Given the description of an element on the screen output the (x, y) to click on. 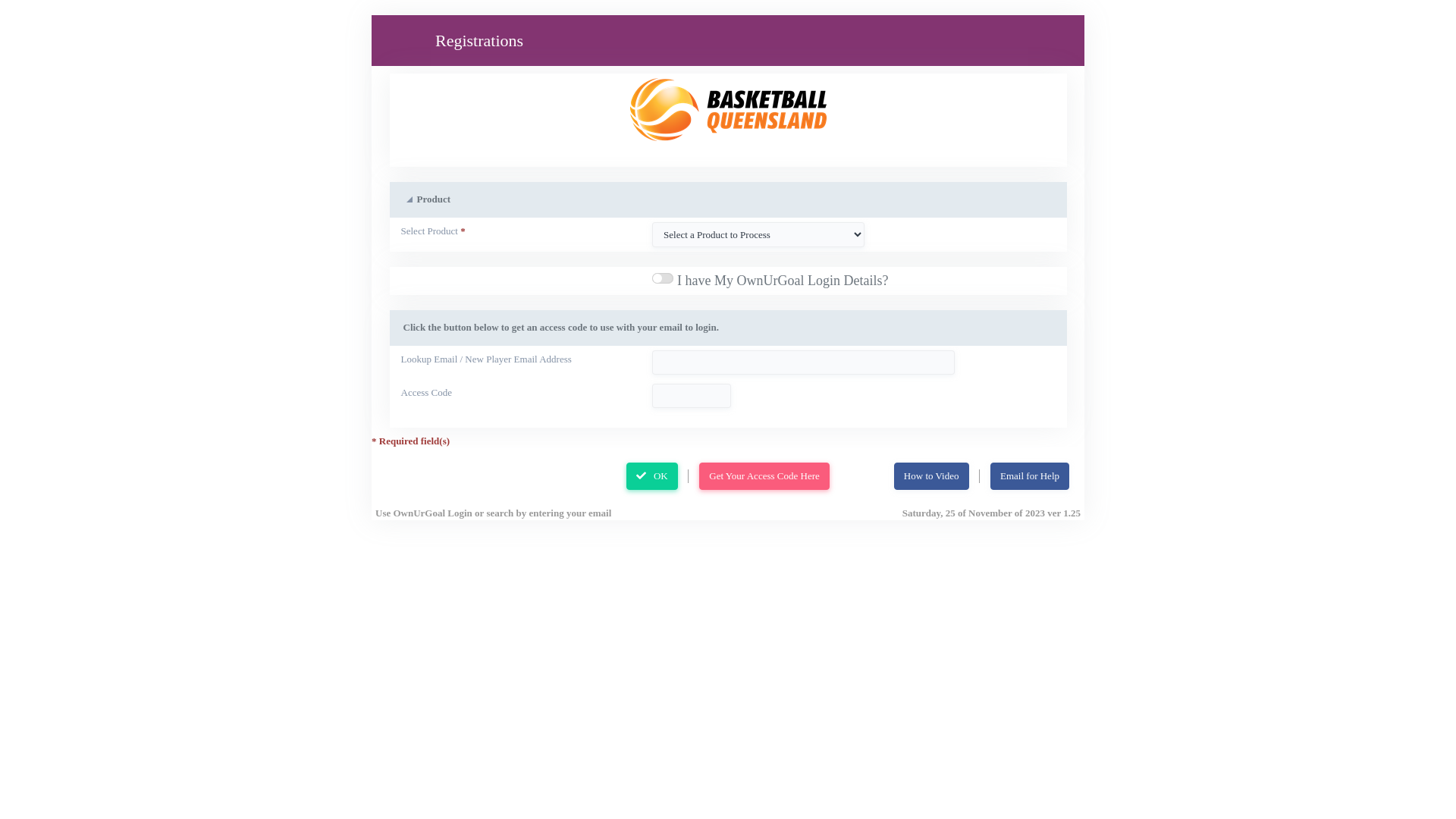
  OK Element type: text (651, 475)
How to Video Element type: text (931, 475)
Email for Help Element type: text (1029, 475)
Get Your Access Code Here Element type: text (764, 475)
Y Element type: text (770, 280)
